Given the description of an element on the screen output the (x, y) to click on. 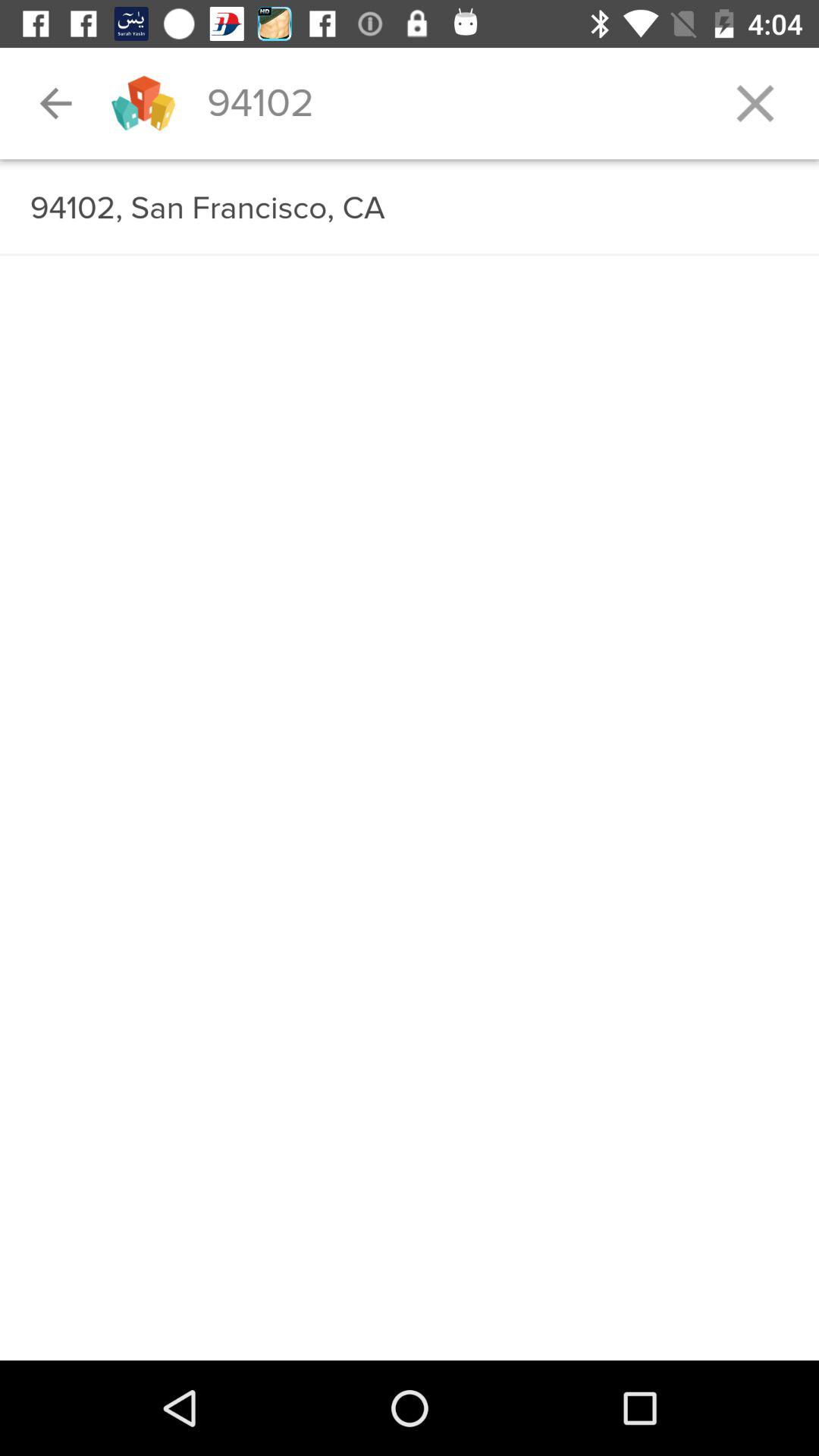
turn on 94102 san francisco icon (409, 208)
